Given the description of an element on the screen output the (x, y) to click on. 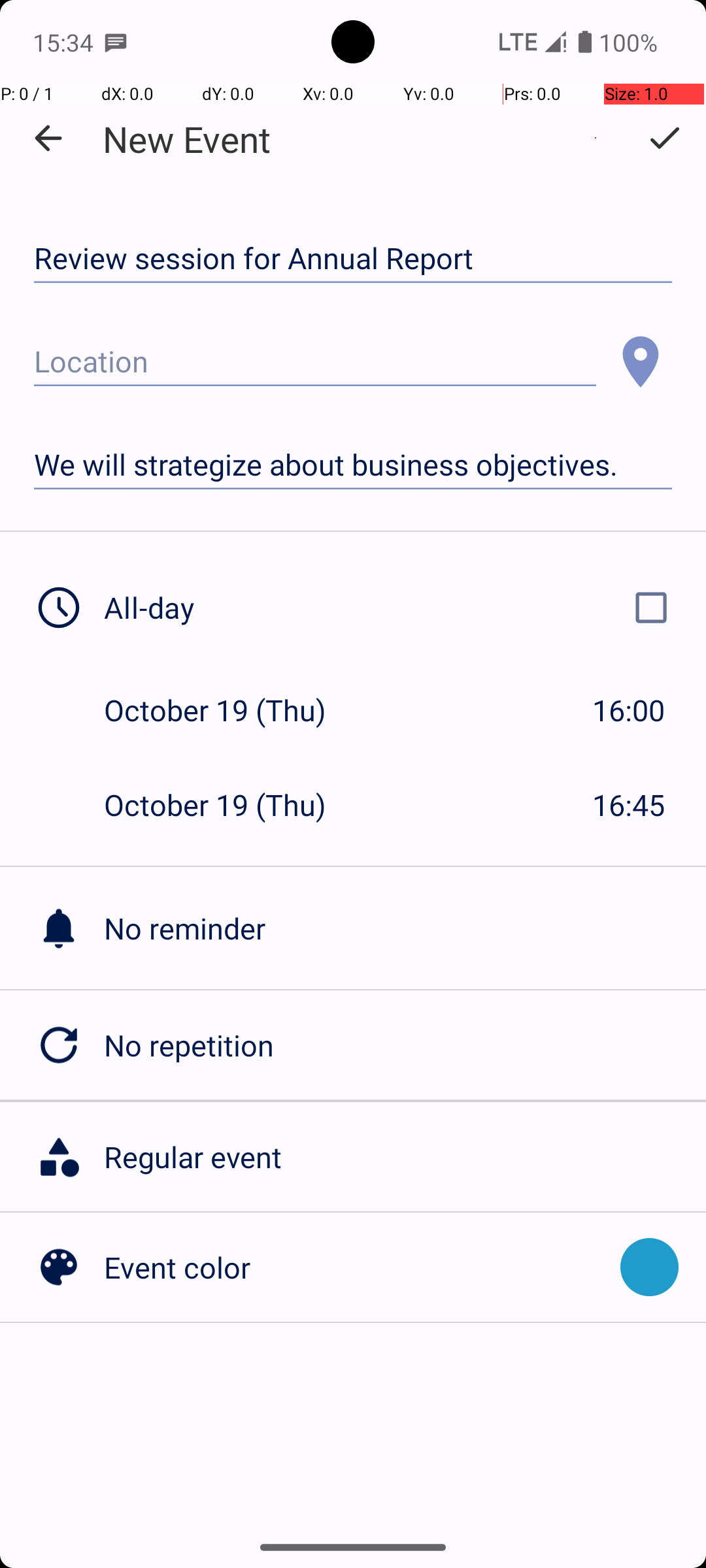
We will strategize about business objectives. Element type: android.widget.EditText (352, 465)
October 19 (Thu) Element type: android.widget.TextView (228, 709)
16:45 Element type: android.widget.TextView (628, 804)
